Given the description of an element on the screen output the (x, y) to click on. 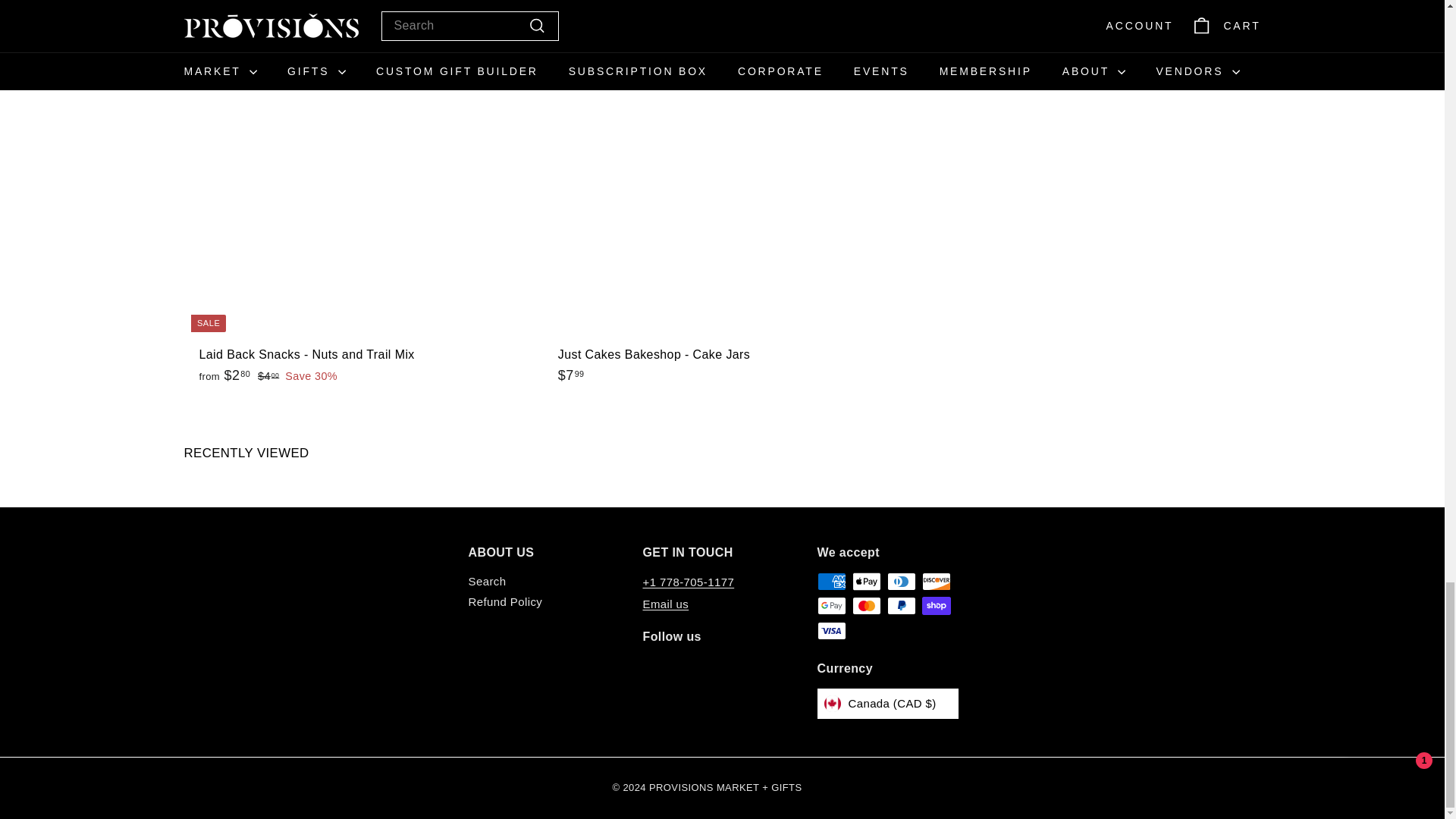
Apple Pay (865, 581)
American Express (830, 581)
Discover (935, 581)
Diners Club (900, 581)
